Given the description of an element on the screen output the (x, y) to click on. 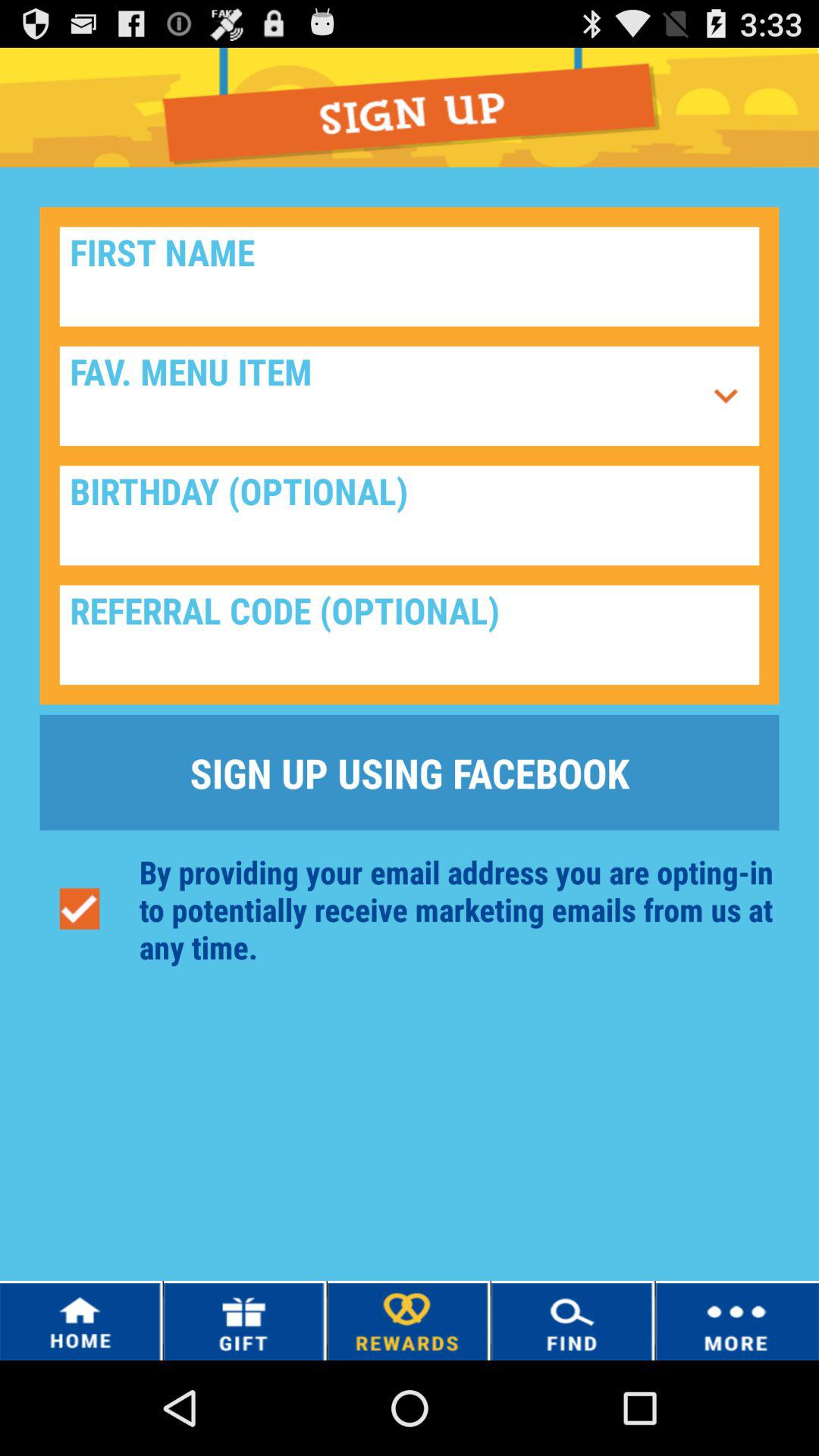
open sign up using (409, 772)
